Given the description of an element on the screen output the (x, y) to click on. 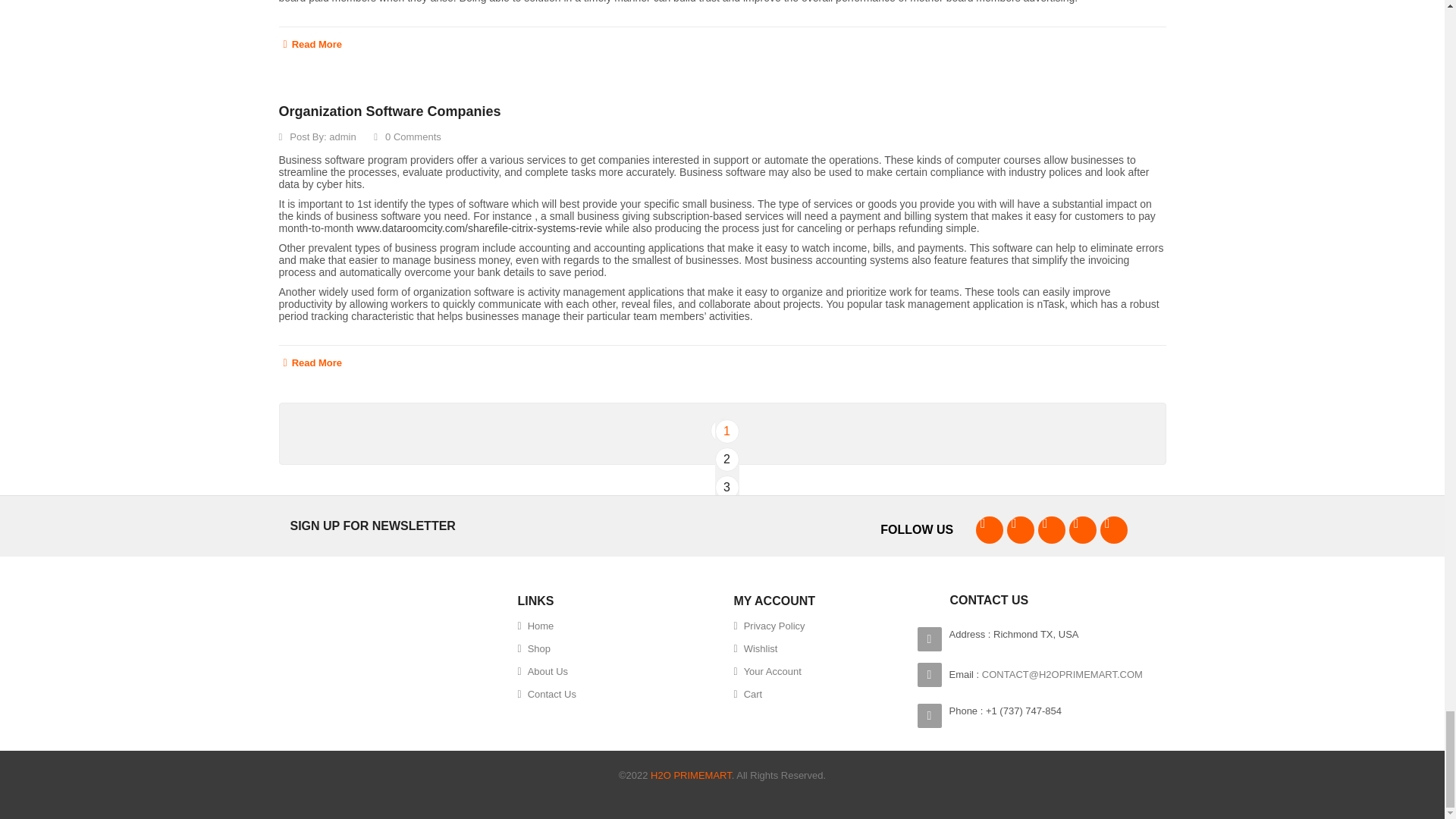
Posts by admin (342, 136)
